Given the description of an element on the screen output the (x, y) to click on. 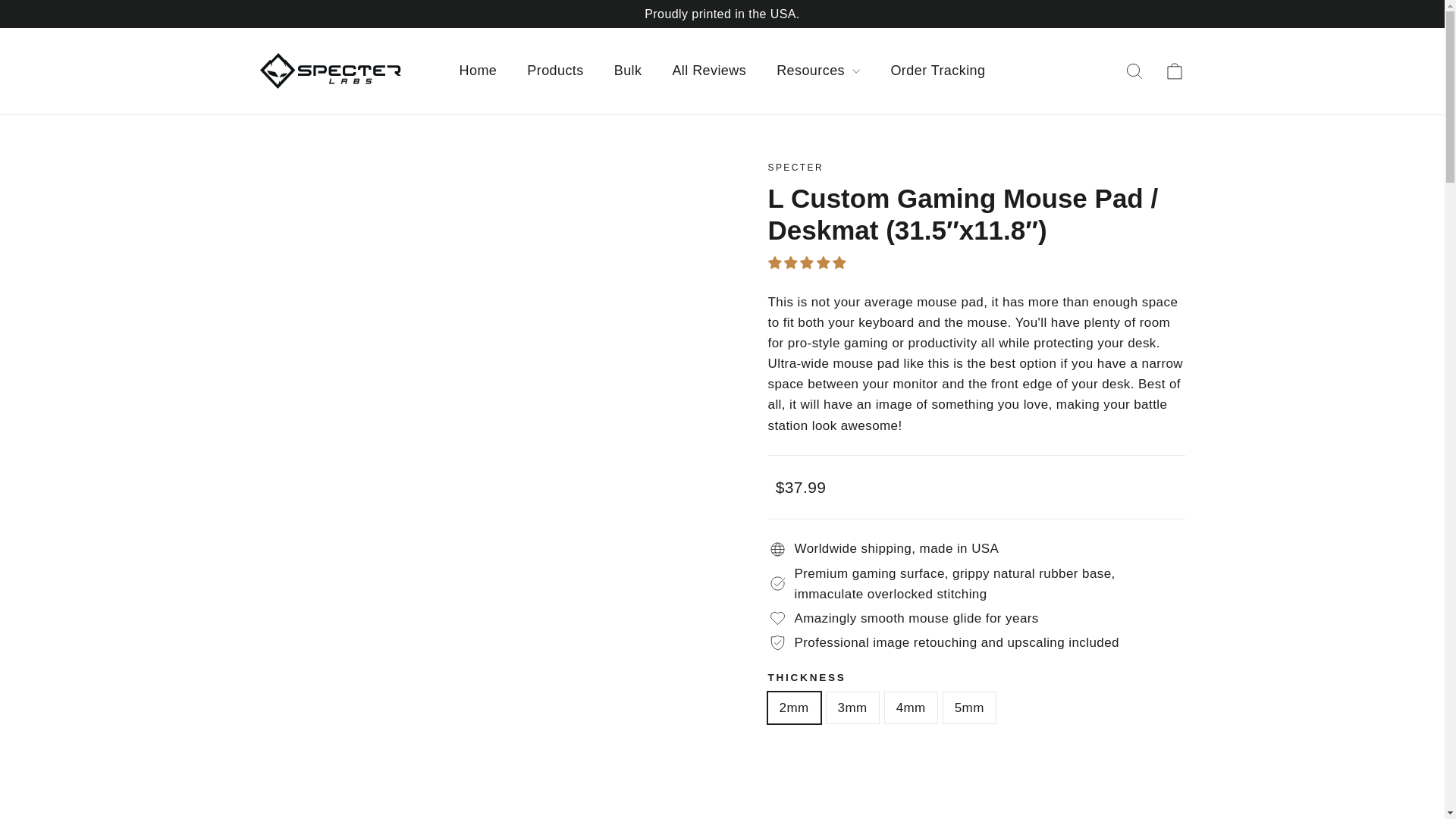
Specter (794, 167)
Resources (818, 70)
Bulk (628, 70)
All Reviews (708, 70)
Home (478, 70)
Products (555, 70)
